Given the description of an element on the screen output the (x, y) to click on. 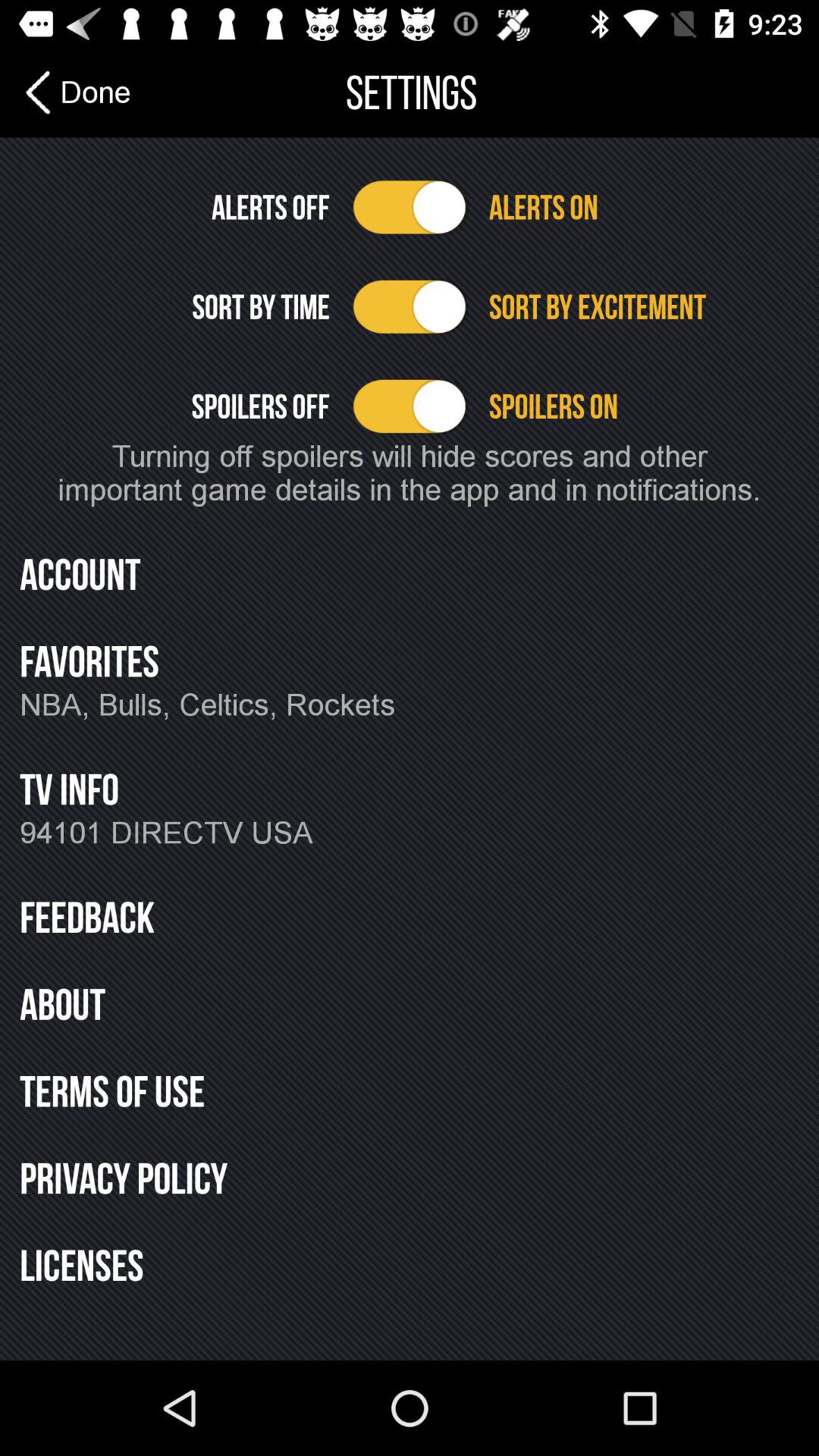
select the item above the turning off spoilers (644, 405)
